Given the description of an element on the screen output the (x, y) to click on. 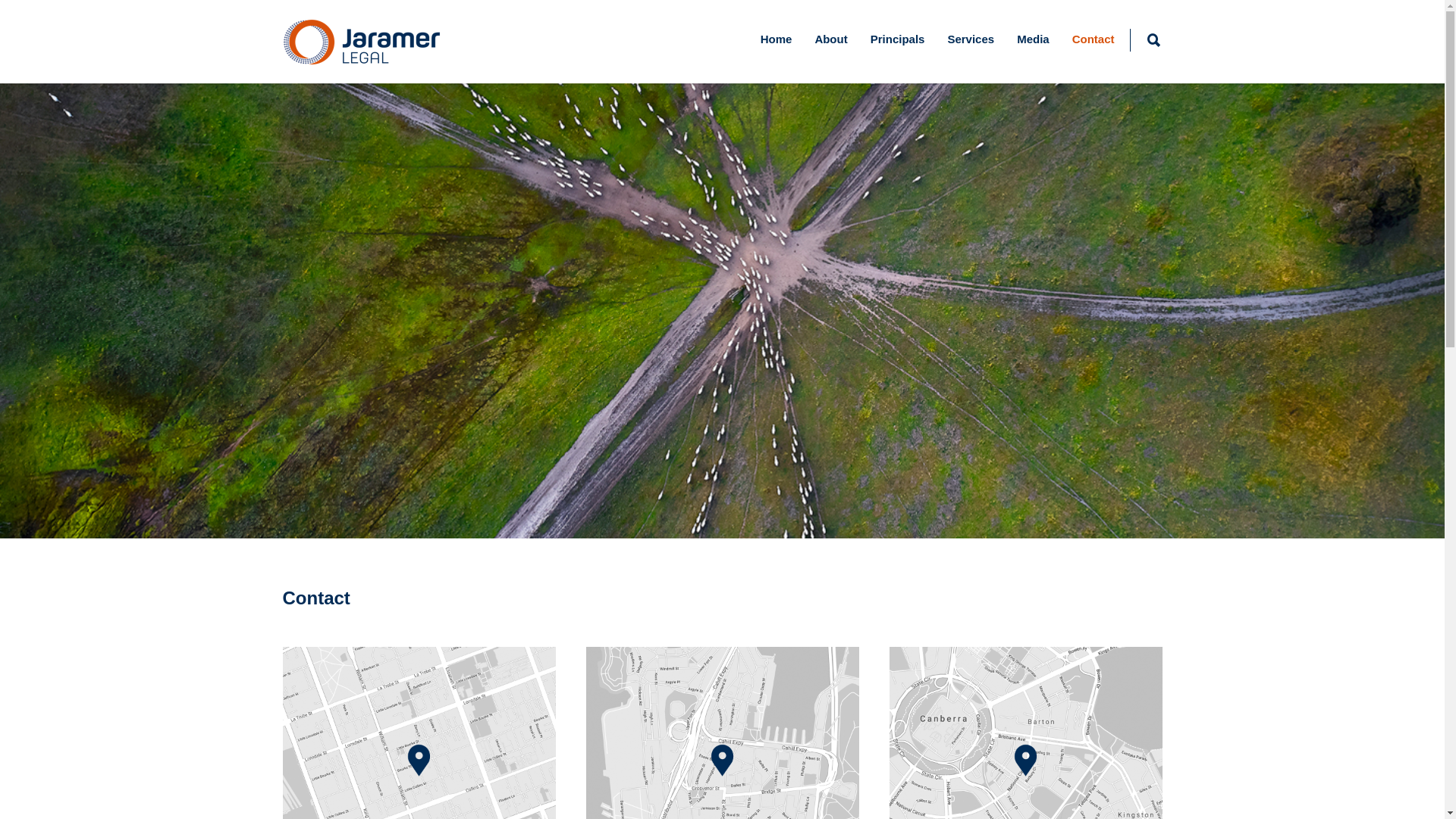
Media Element type: text (1032, 38)
Principals Element type: text (897, 38)
Contact Element type: text (1093, 38)
Home Element type: text (776, 38)
Services Element type: text (970, 38)
About Element type: text (830, 38)
